Given the description of an element on the screen output the (x, y) to click on. 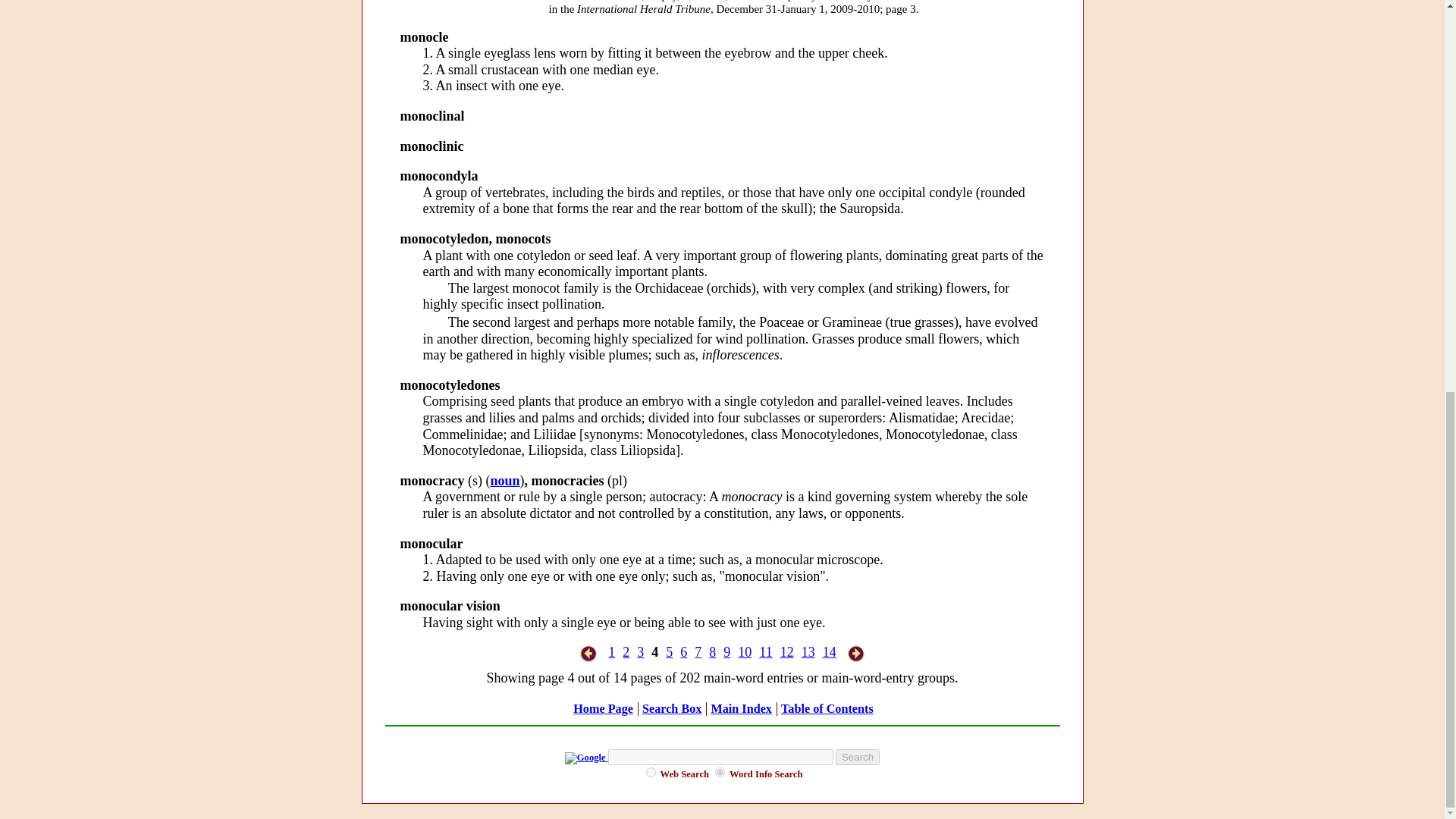
13 (808, 652)
Table of Contents (826, 708)
Home Page (603, 708)
14 (828, 652)
Main Index (740, 708)
Search (857, 756)
noun (504, 480)
12 (786, 652)
Search Box (671, 708)
Search (857, 756)
